Given the description of an element on the screen output the (x, y) to click on. 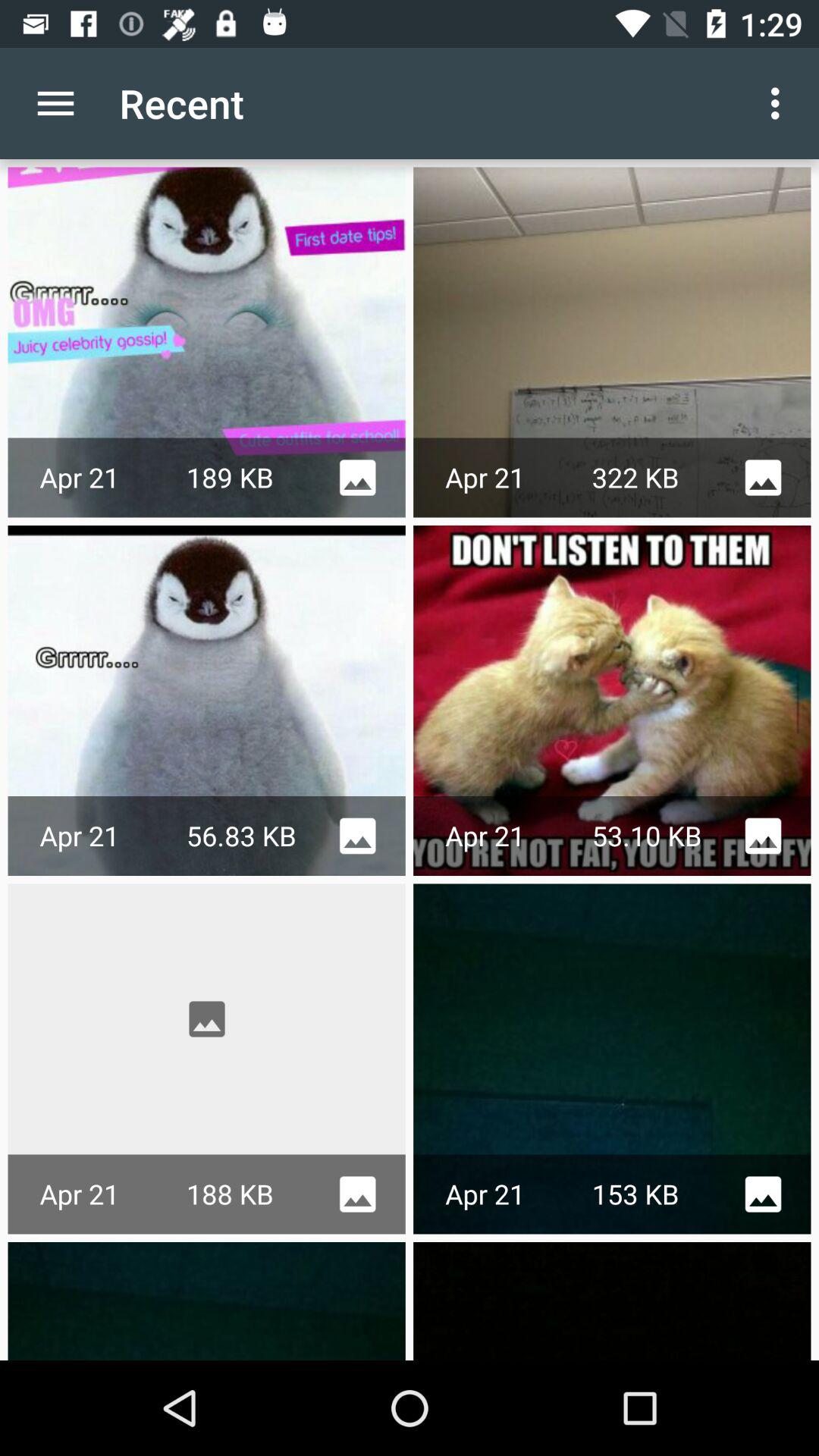
click the app to the right of recent app (779, 103)
